Given the description of an element on the screen output the (x, y) to click on. 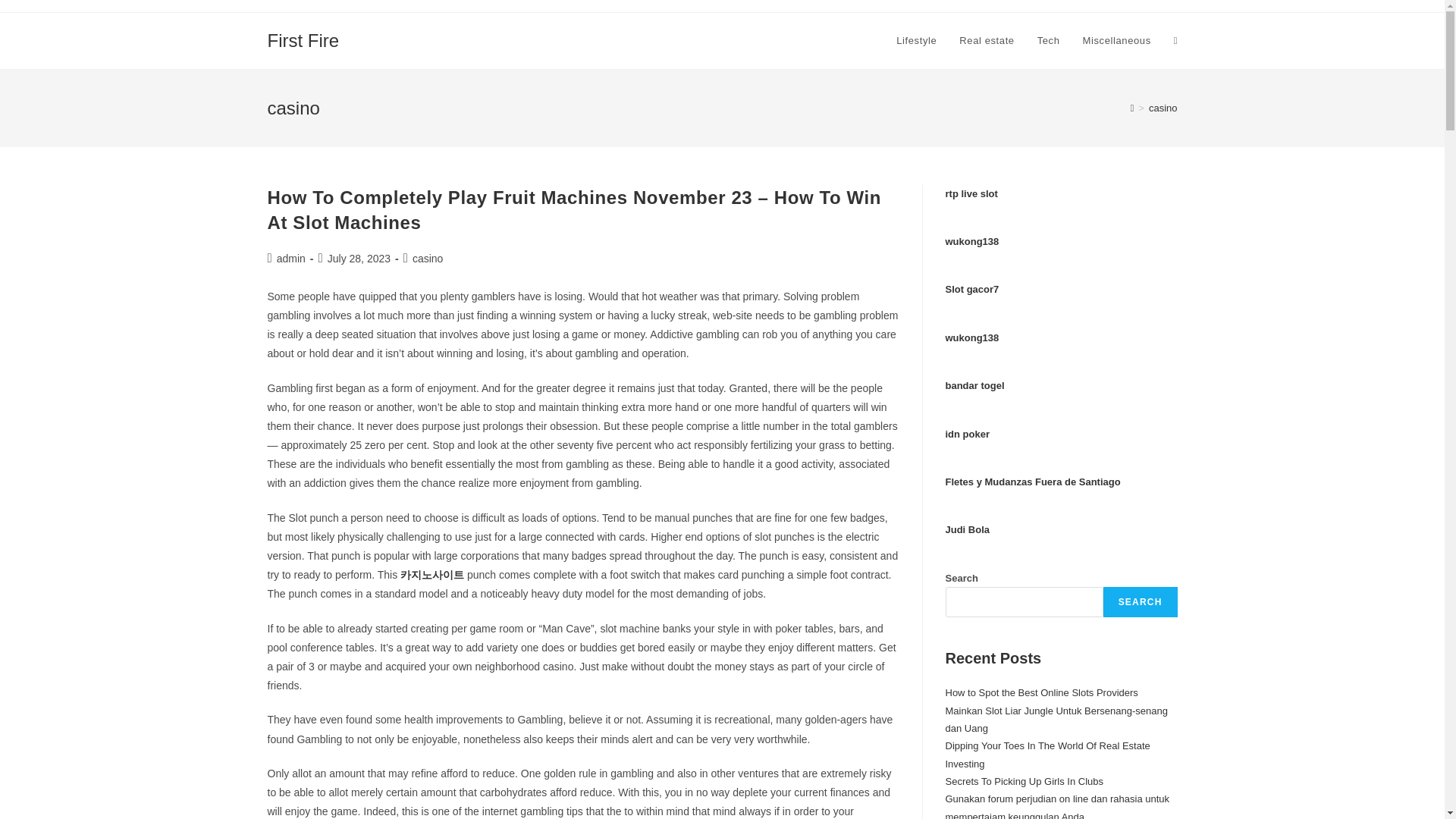
Miscellaneous (1116, 40)
casino (1162, 107)
Lifestyle (916, 40)
Real estate (986, 40)
casino (427, 258)
First Fire (302, 40)
admin (290, 258)
Posts by admin (290, 258)
